Given the description of an element on the screen output the (x, y) to click on. 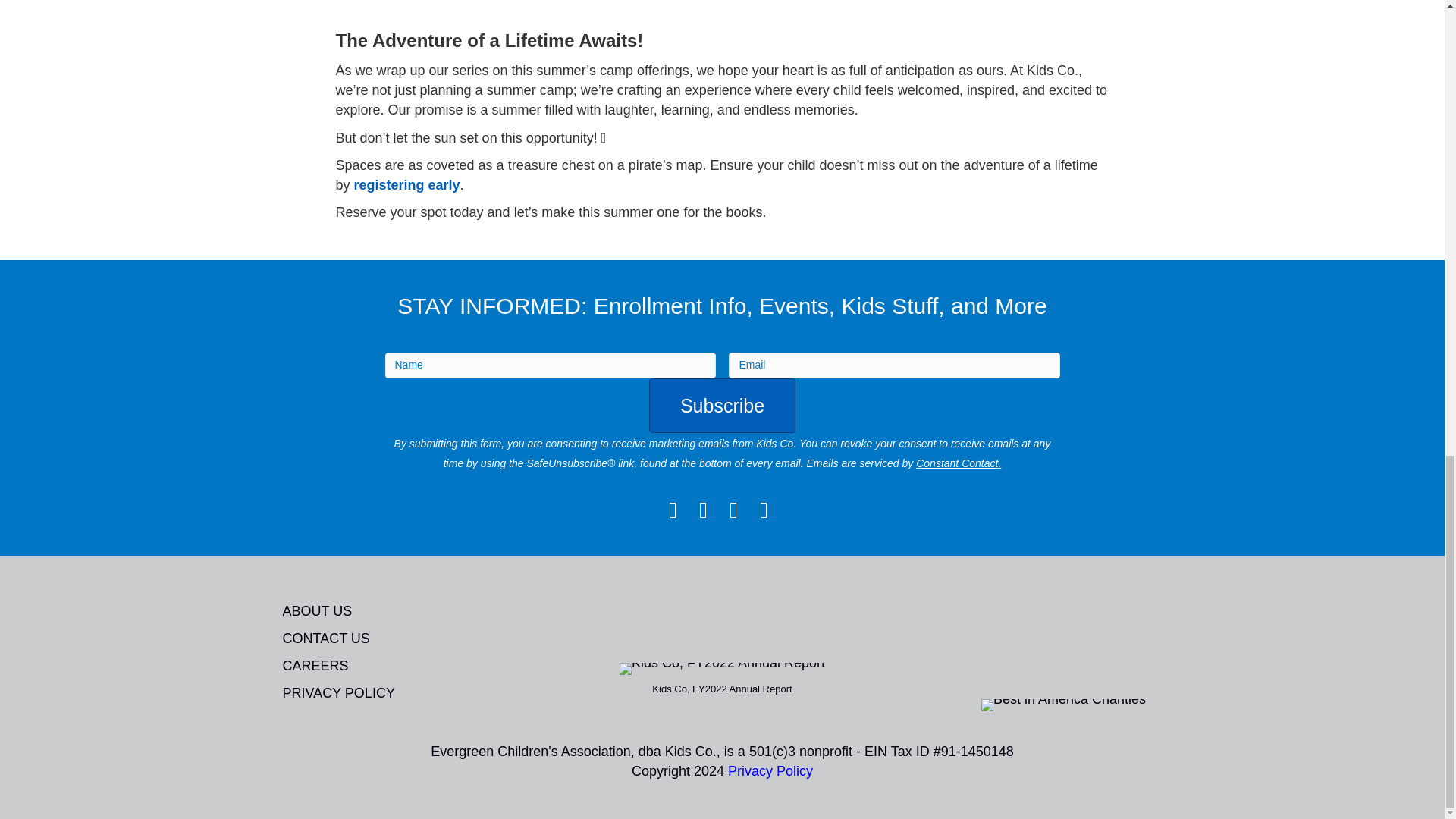
Kids Co FY22 Report Cover (722, 668)
Instagram (703, 510)
YouTube (734, 510)
Facebook (673, 510)
Subscribe (721, 405)
LinkedIn (763, 510)
